Given the description of an element on the screen output the (x, y) to click on. 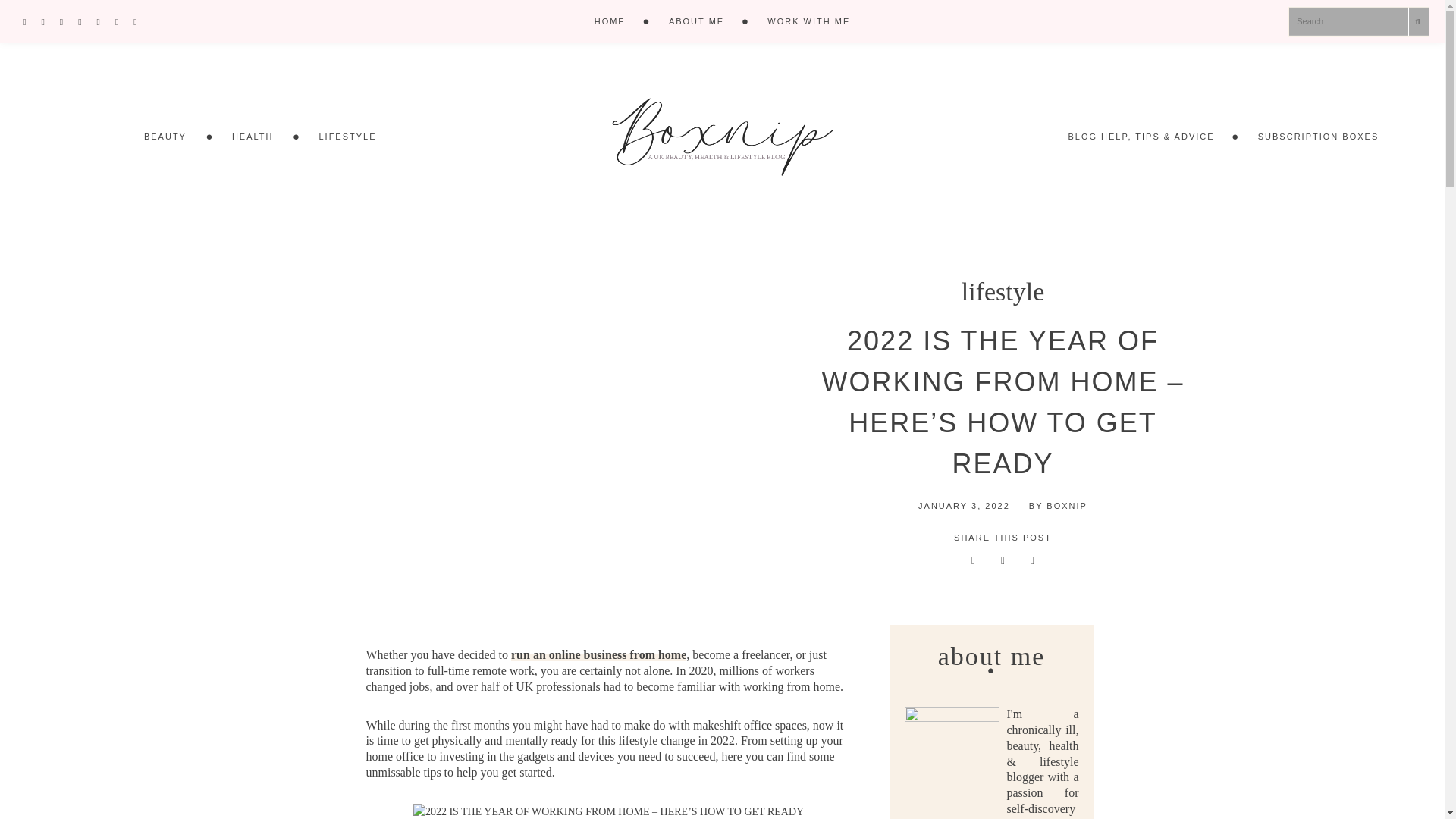
Share on Pinterest (973, 560)
LIFESTYLE (347, 136)
ABOUT ME (695, 21)
HOME (609, 21)
Share on Facebook (1032, 560)
HEALTH (252, 136)
WORK WITH ME (808, 21)
Share on Twitter (1003, 560)
BEAUTY (164, 136)
